Given the description of an element on the screen output the (x, y) to click on. 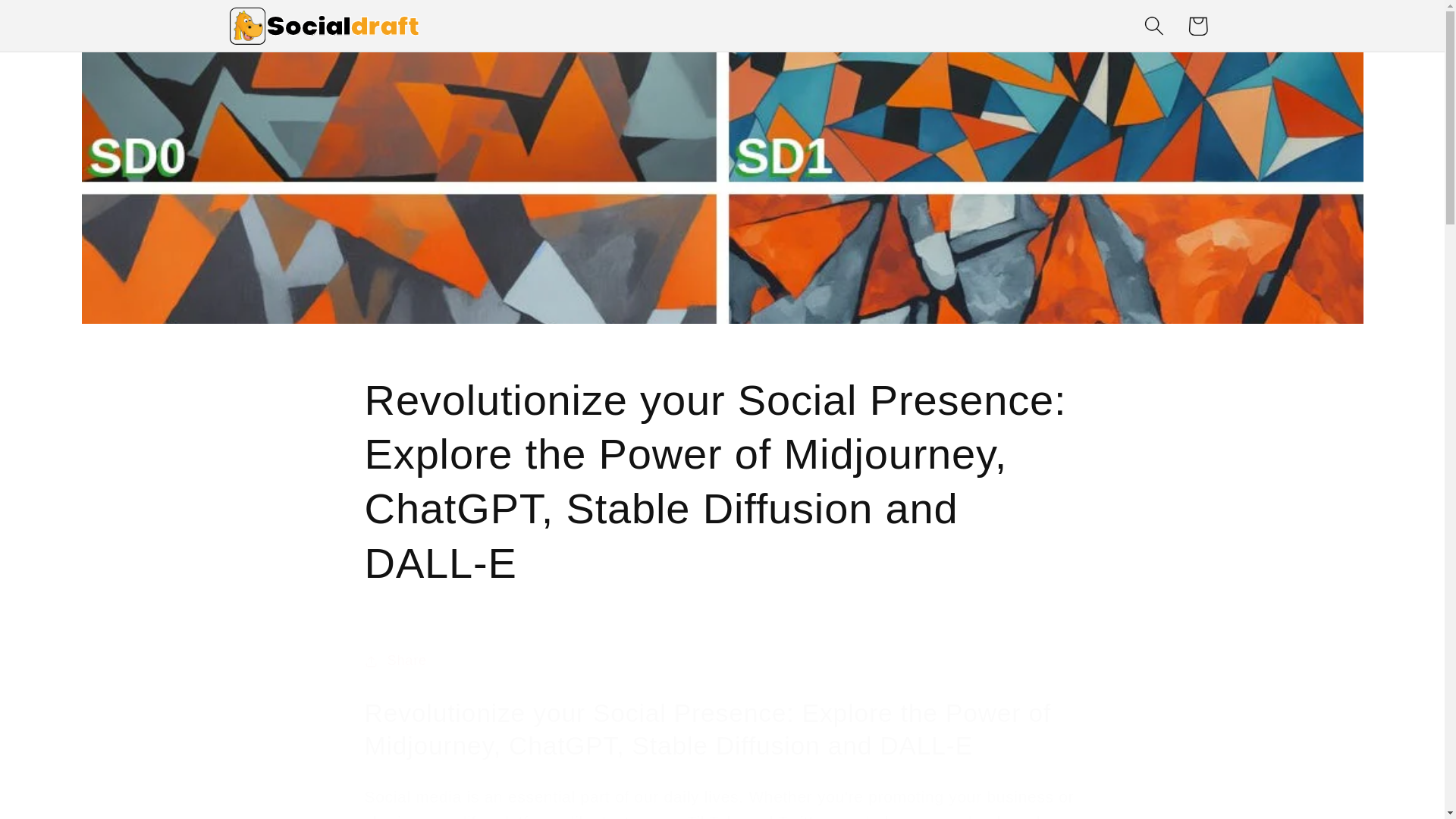
Cart (1198, 25)
Share (722, 660)
Skip to content (59, 22)
